Given the description of an element on the screen output the (x, y) to click on. 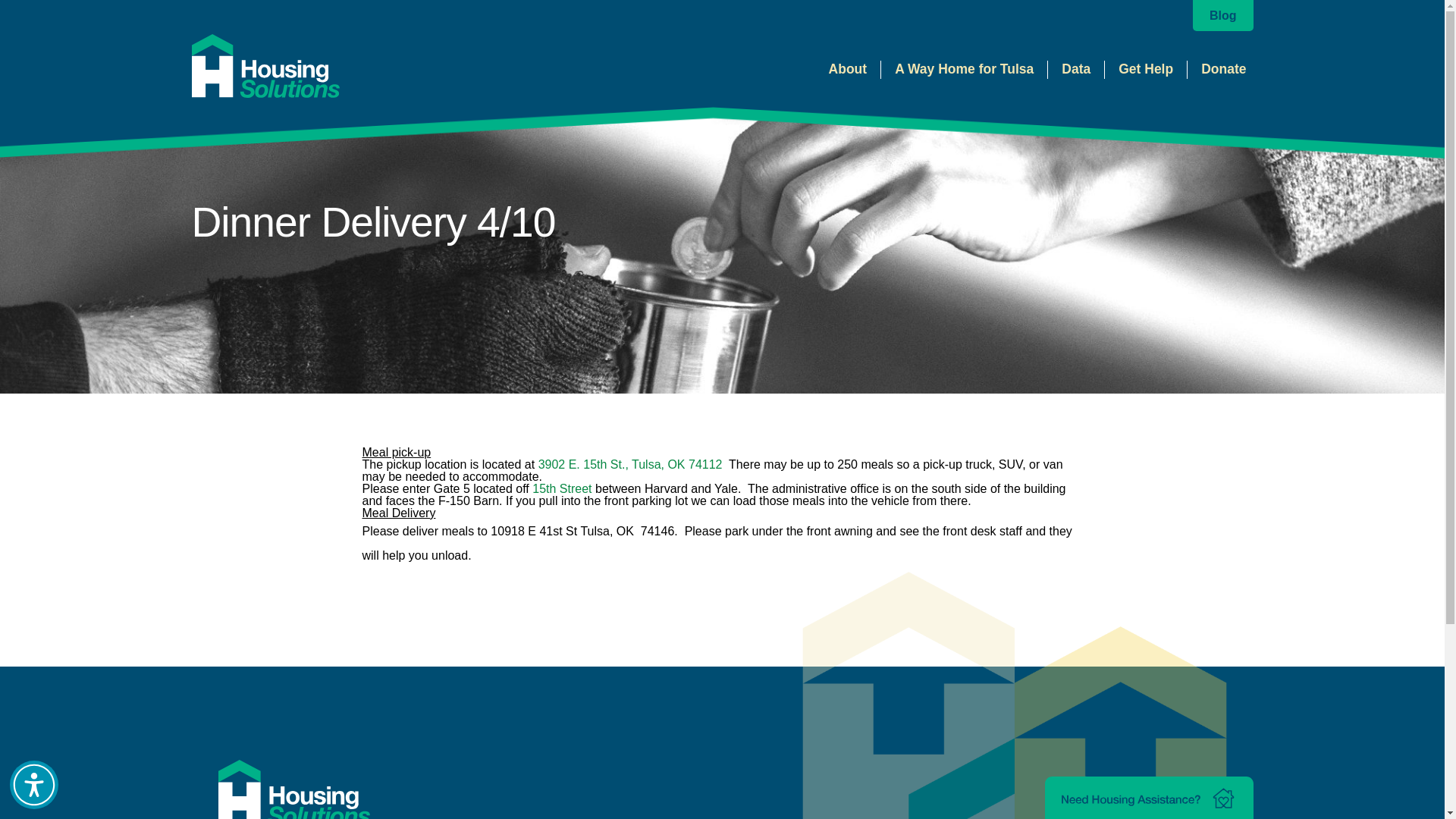
A Way Home for Tulsa (964, 68)
Blog (1222, 15)
About (848, 68)
Accessibility Menu (34, 784)
Data (1075, 68)
Get Help (1145, 68)
Donate (1222, 68)
